Given the description of an element on the screen output the (x, y) to click on. 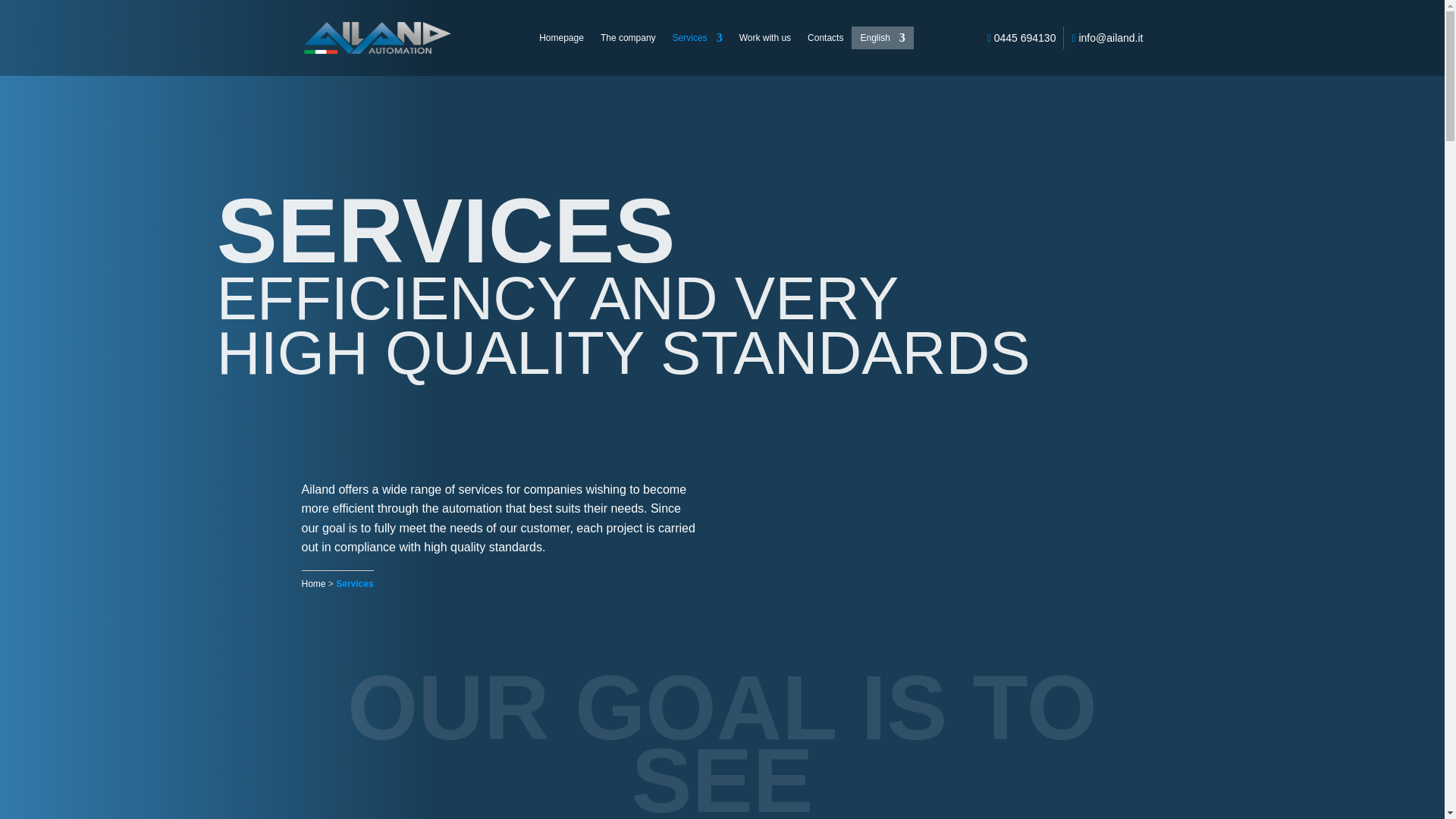
Contacts (825, 40)
0445 694130 (1022, 37)
Services (697, 40)
The company (627, 40)
English (882, 40)
English (882, 40)
Homepage (560, 40)
Home (313, 583)
Work with us (764, 40)
LOGO ailand FX (354, 32)
